Given the description of an element on the screen output the (x, y) to click on. 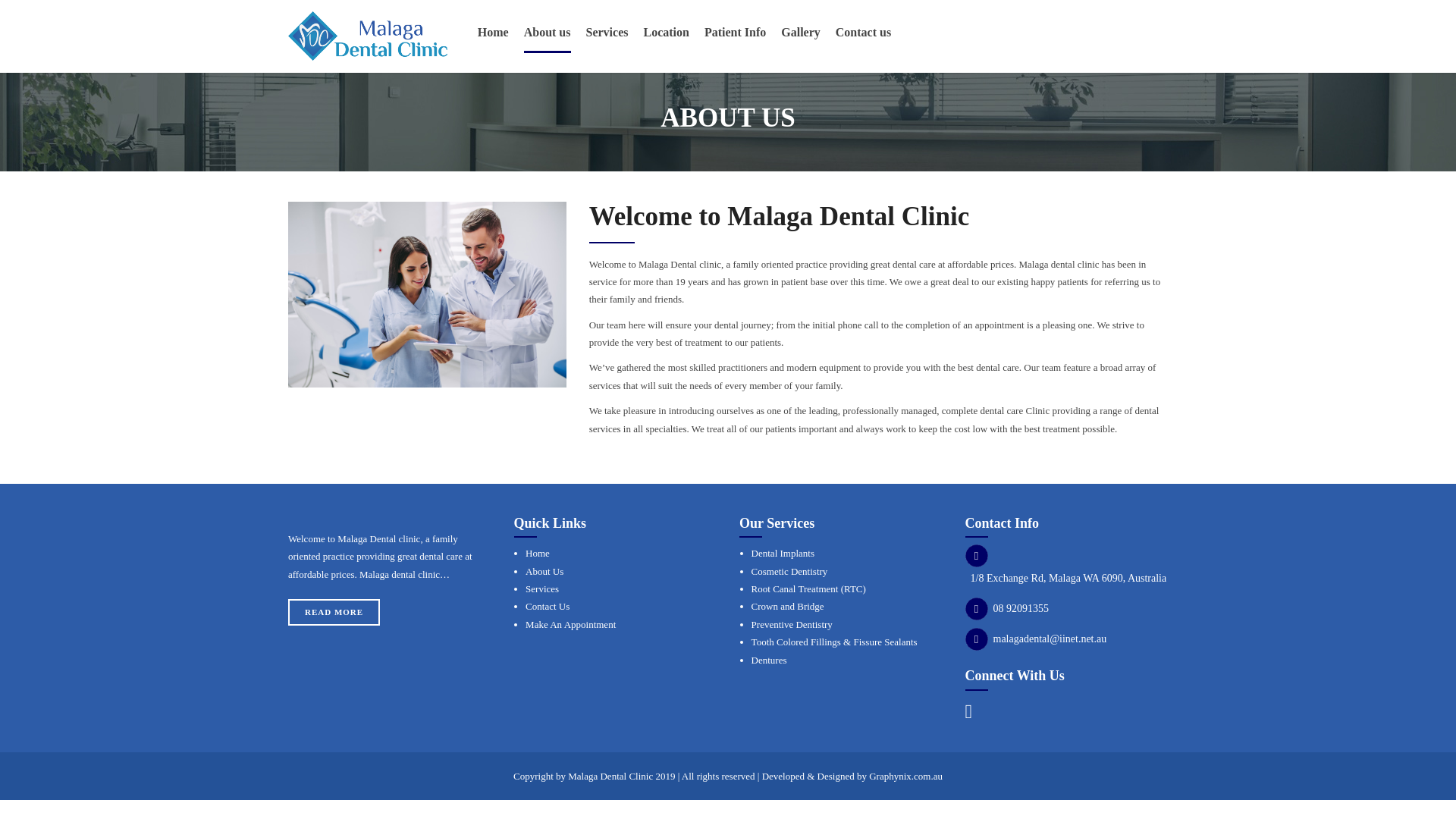
Dentures (769, 659)
Gallery (800, 32)
Services (606, 32)
READ MORE (334, 611)
Cosmetic Dentistry (789, 571)
Crown and Bridge (787, 605)
Contact us (863, 32)
About Us (544, 571)
Dental Implants (782, 552)
Patient Info (734, 32)
Preventive Dentistry (791, 624)
Location (665, 32)
Graphynix.com.au (905, 776)
About us (547, 32)
Services (542, 588)
